Given the description of an element on the screen output the (x, y) to click on. 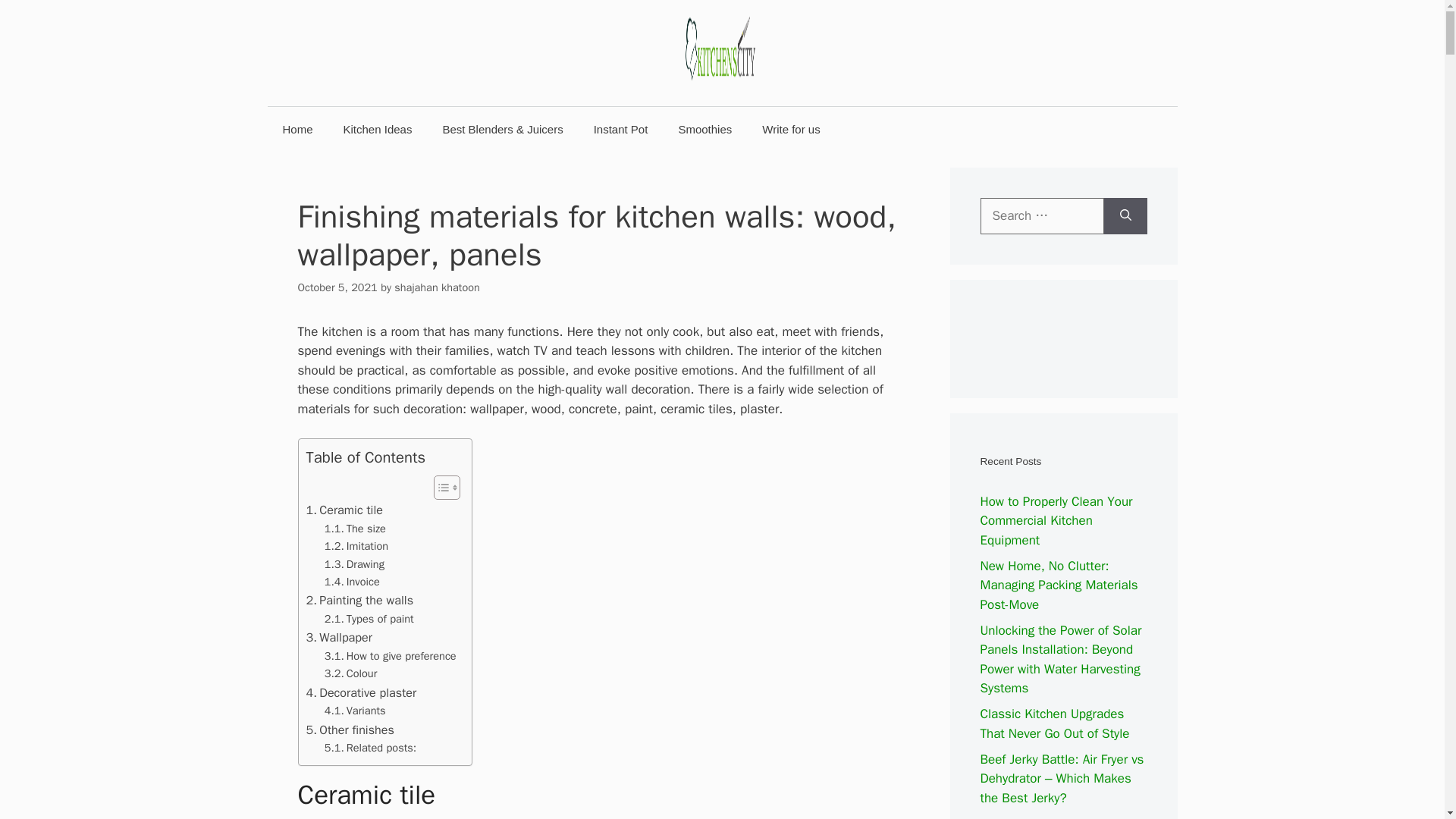
Painting the walls (359, 600)
Wallpaper (338, 637)
Decorative plaster (360, 692)
Related posts: (370, 747)
Instant Pot (620, 129)
Invoice (352, 581)
Colour (350, 673)
Invoice (352, 581)
The size (354, 528)
How to give preference (390, 656)
